Given the description of an element on the screen output the (x, y) to click on. 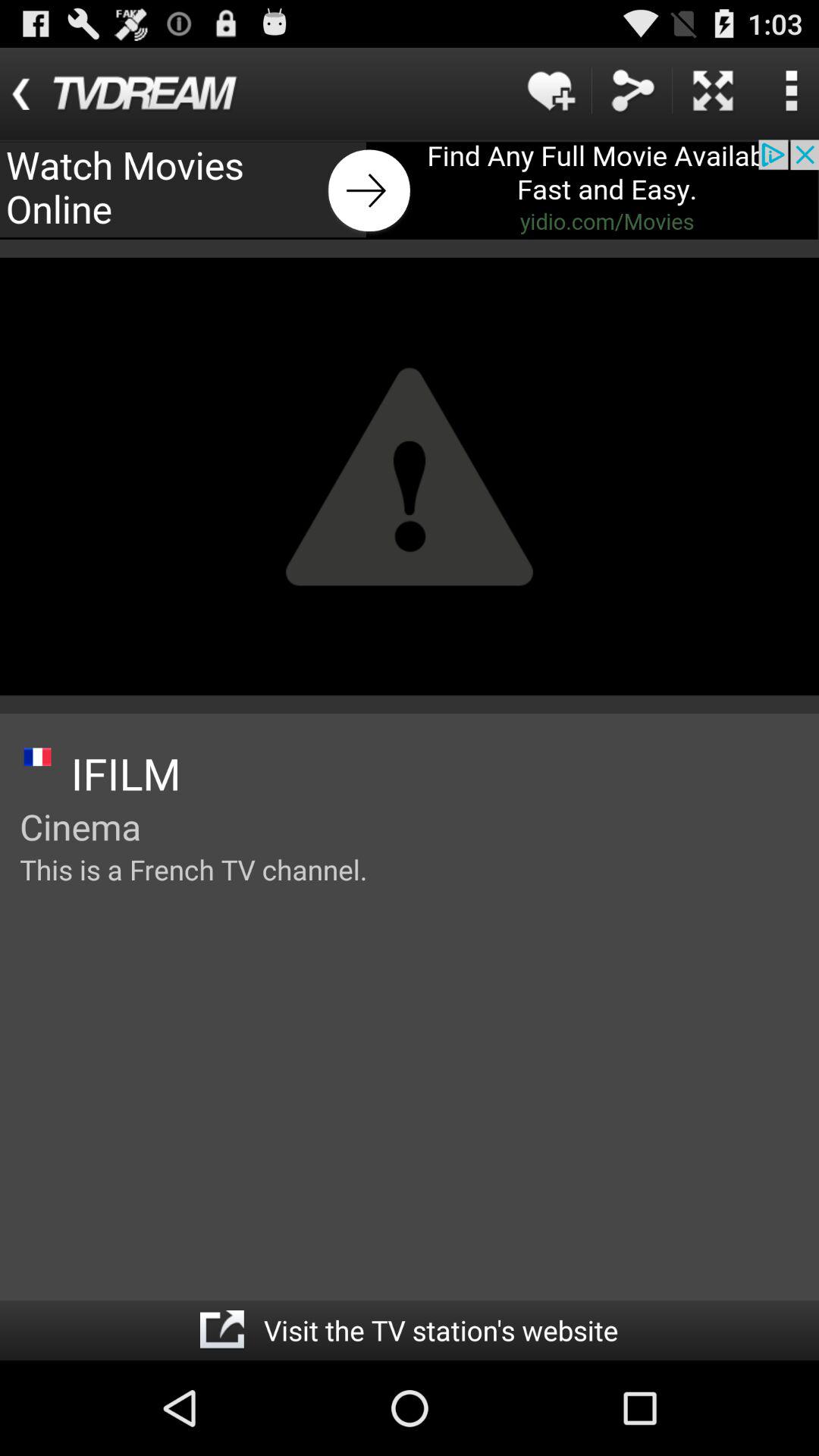
open menu (791, 90)
